Given the description of an element on the screen output the (x, y) to click on. 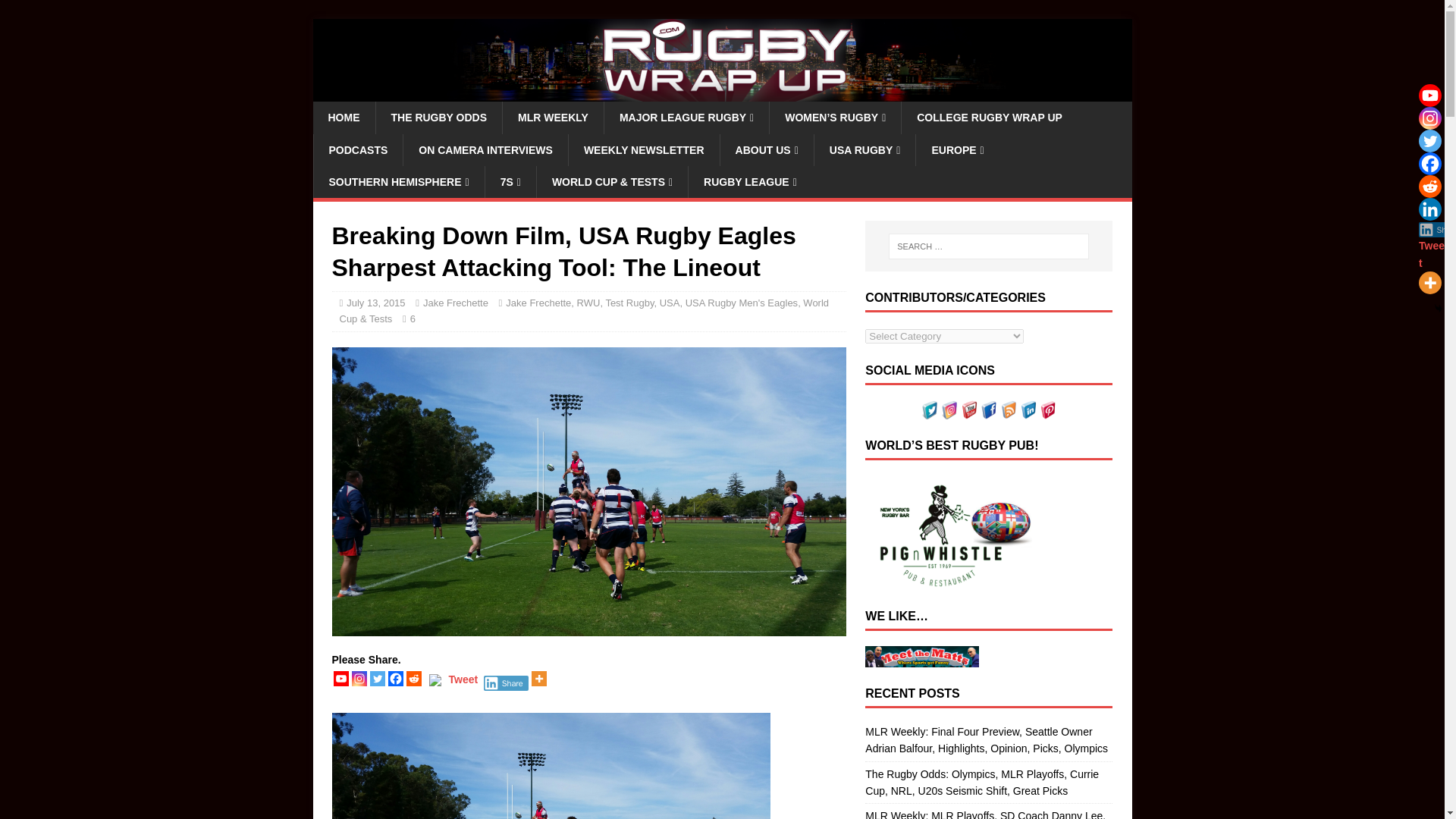
Twitter (377, 678)
Rugby Wrap Up (722, 92)
Reddit (414, 678)
More (539, 678)
Instagram (359, 678)
Facebook (395, 678)
Youtube (341, 678)
Youtube (1429, 95)
